Given the description of an element on the screen output the (x, y) to click on. 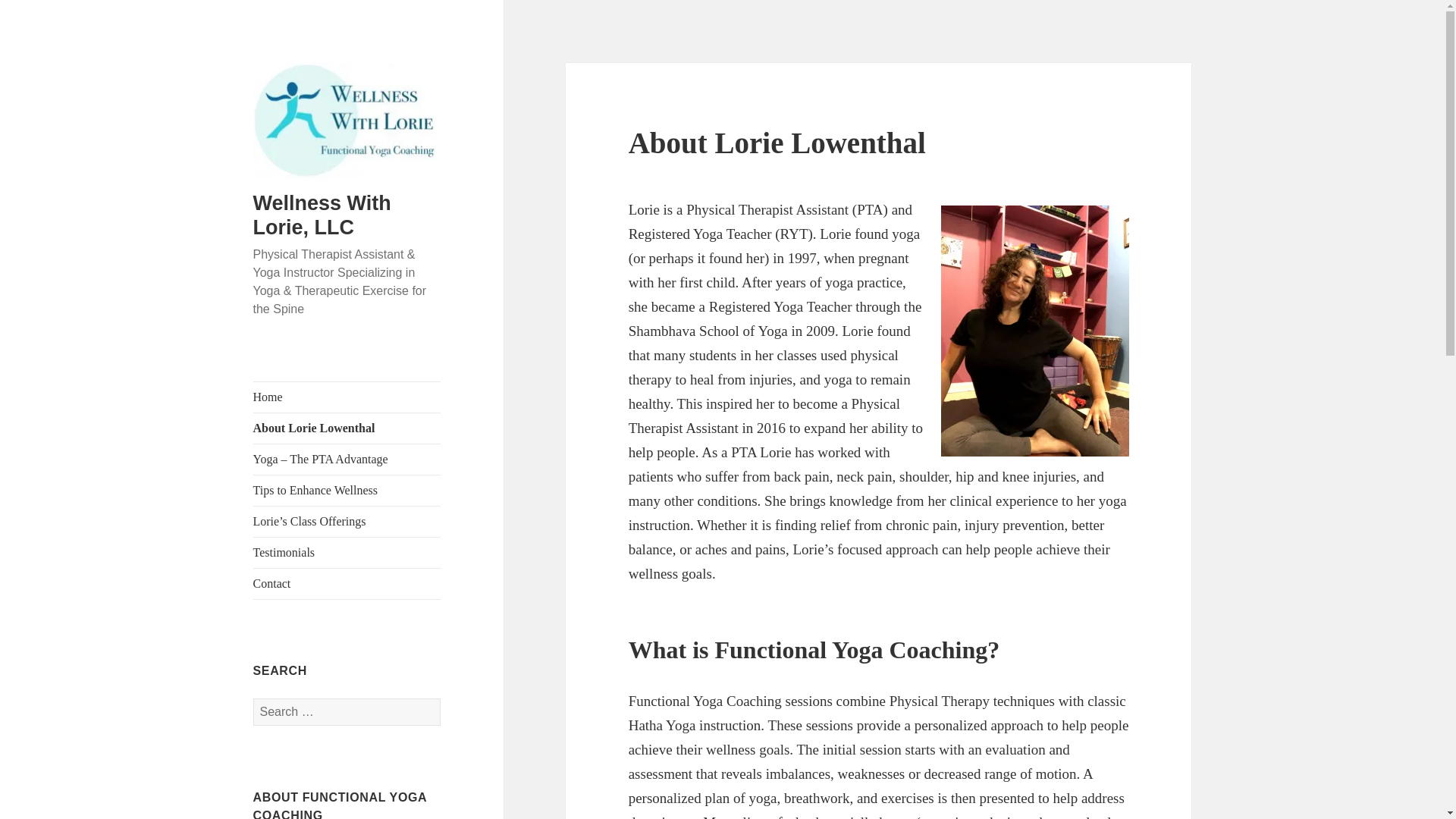
Contact (347, 583)
Wellness With Lorie, LLC (322, 215)
Testimonials (347, 552)
About Lorie Lowenthal (347, 428)
Home (347, 397)
Tips to Enhance Wellness (347, 490)
